Given the description of an element on the screen output the (x, y) to click on. 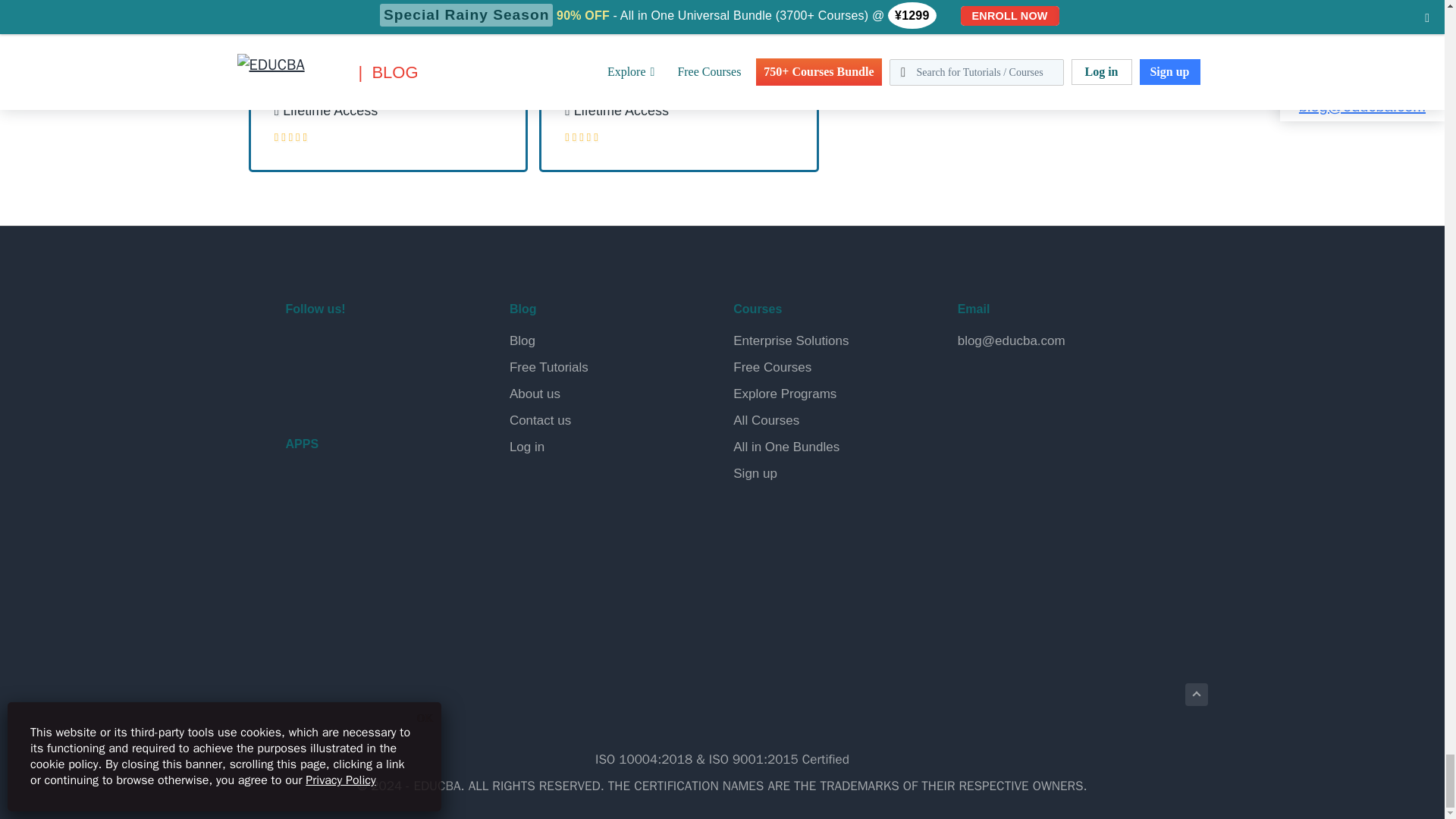
EDUCBA Facebook (300, 349)
EDUCBA LinkedIN (371, 349)
EDUCBA Twitter (336, 349)
EDUCBA iOS App (360, 562)
EDUCBA Udemy (371, 387)
EDUCBA Instagram (408, 349)
EDUCBA Youtube (300, 387)
EDUCBA Android App (360, 498)
EDUCBA Coursera (336, 387)
